Given the description of an element on the screen output the (x, y) to click on. 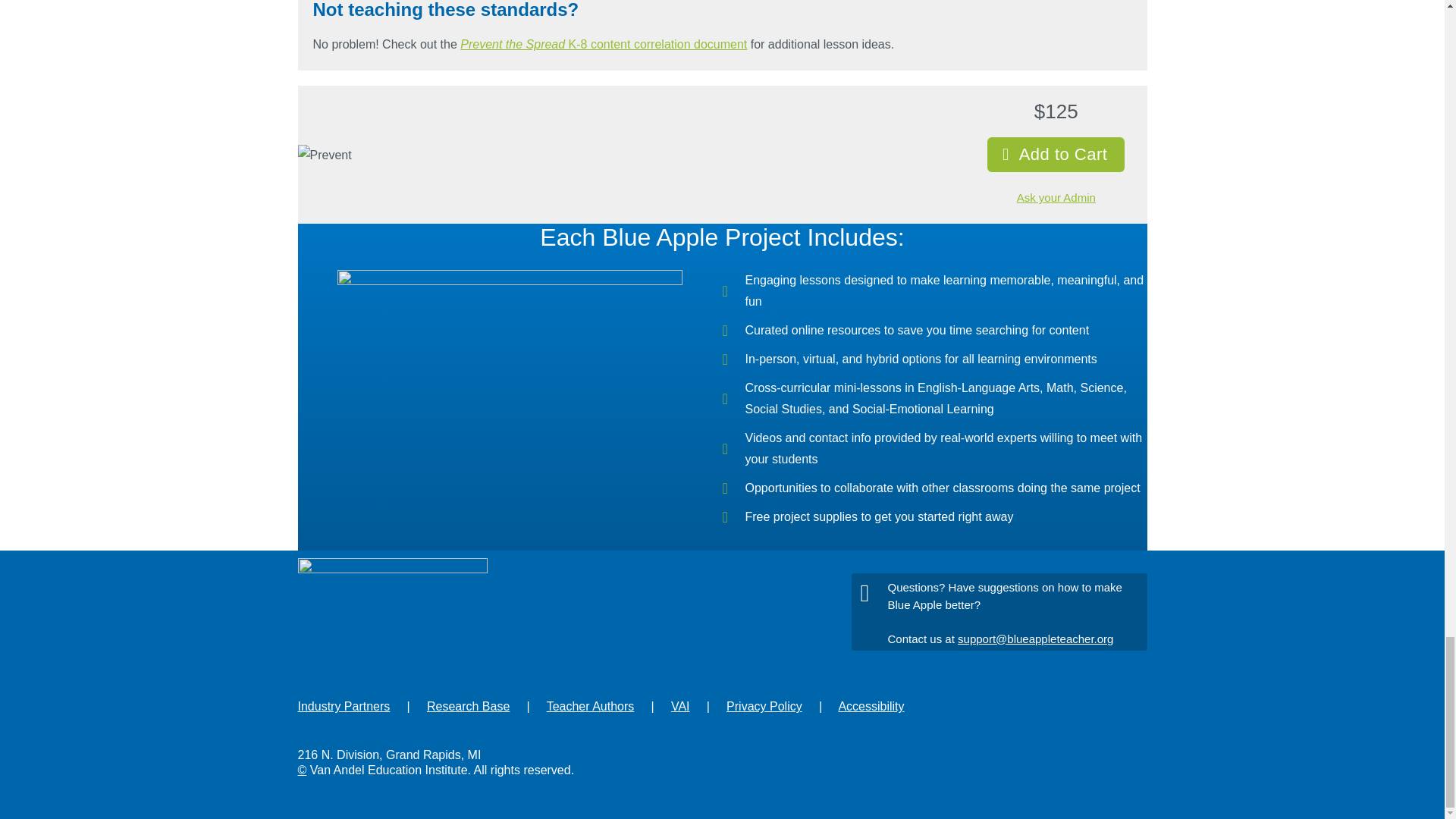
Prevent (323, 155)
